Given the description of an element on the screen output the (x, y) to click on. 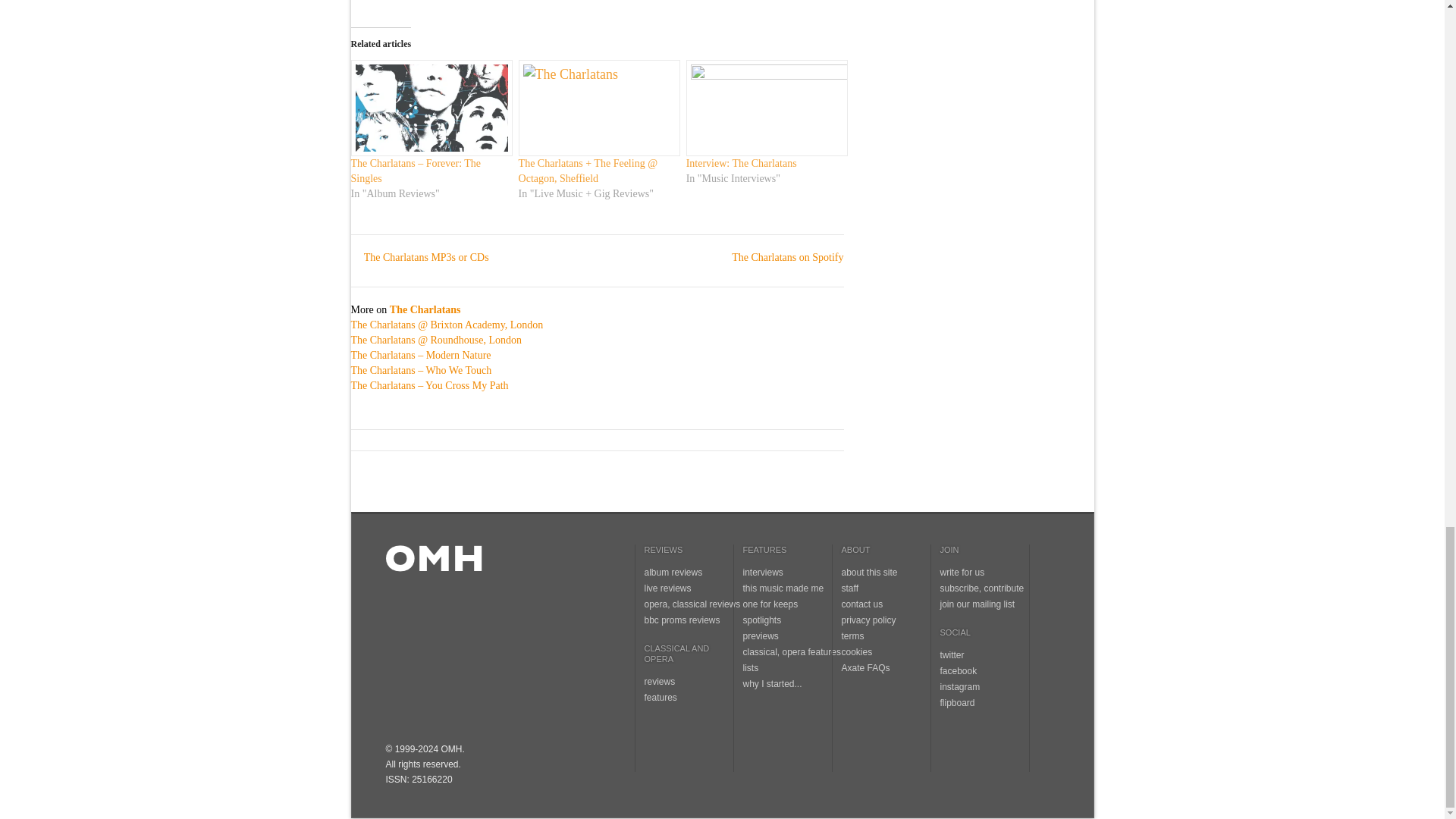
Interview: The Charlatans (740, 163)
The Charlatans MP3s or CDs (418, 256)
The Charlatans on Spotify (781, 256)
The Charlatans (425, 309)
